Given the description of an element on the screen output the (x, y) to click on. 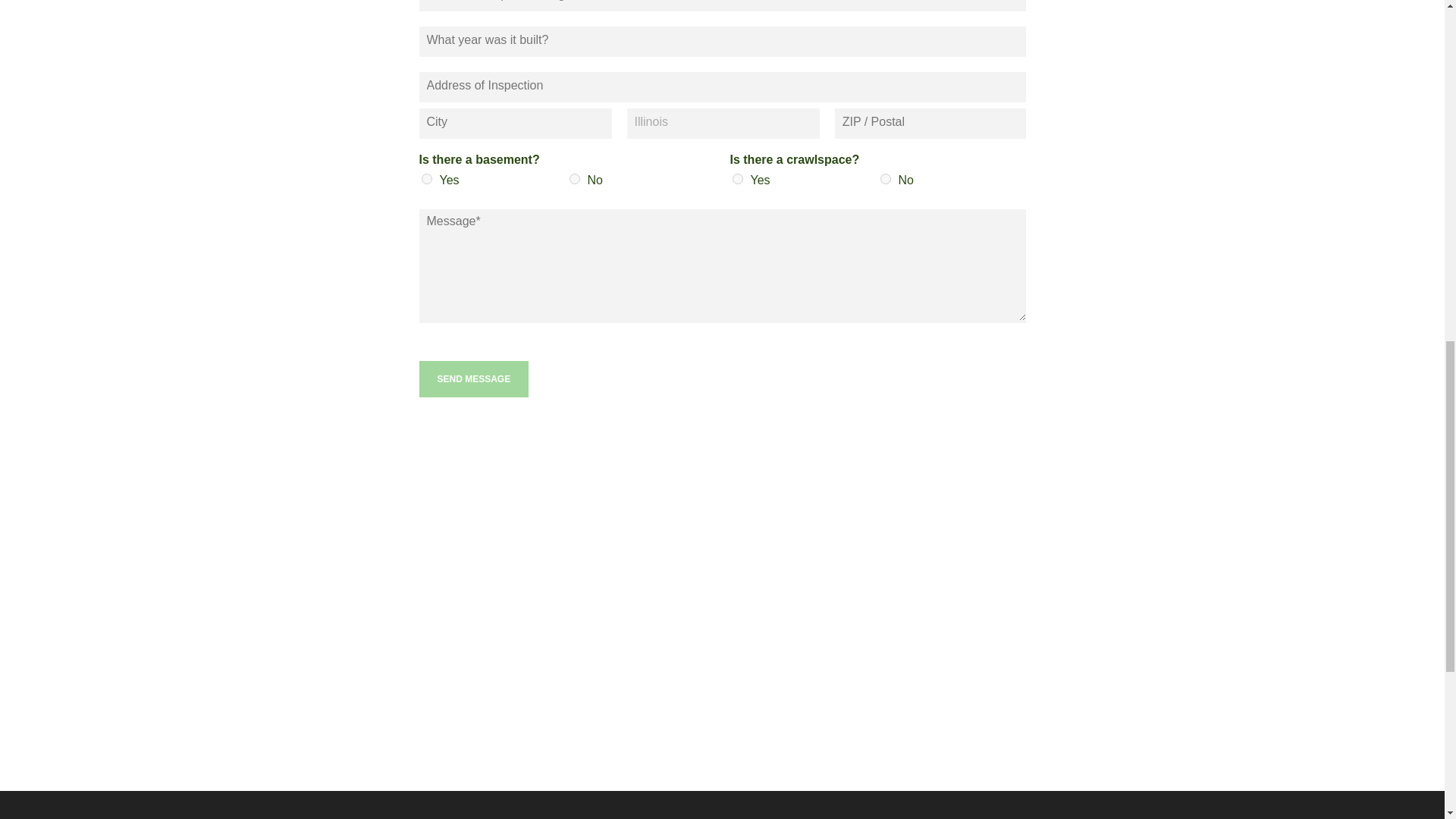
Illinois (722, 123)
No (574, 178)
Yes (737, 178)
Yes (427, 178)
SEND MESSAGE (473, 379)
